Given the description of an element on the screen output the (x, y) to click on. 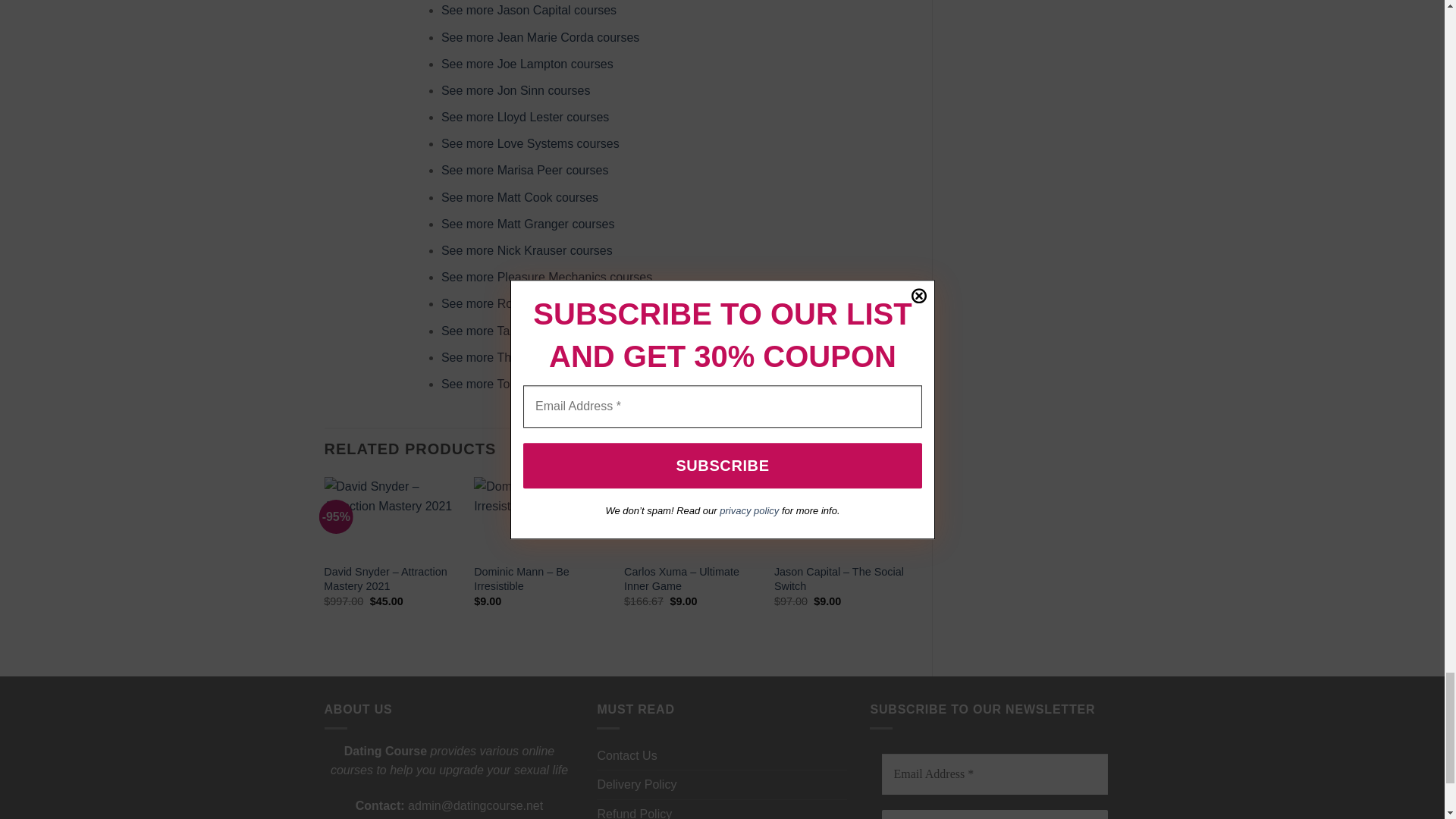
SUBSCRIBE (995, 814)
Email Address (995, 773)
